Given the description of an element on the screen output the (x, y) to click on. 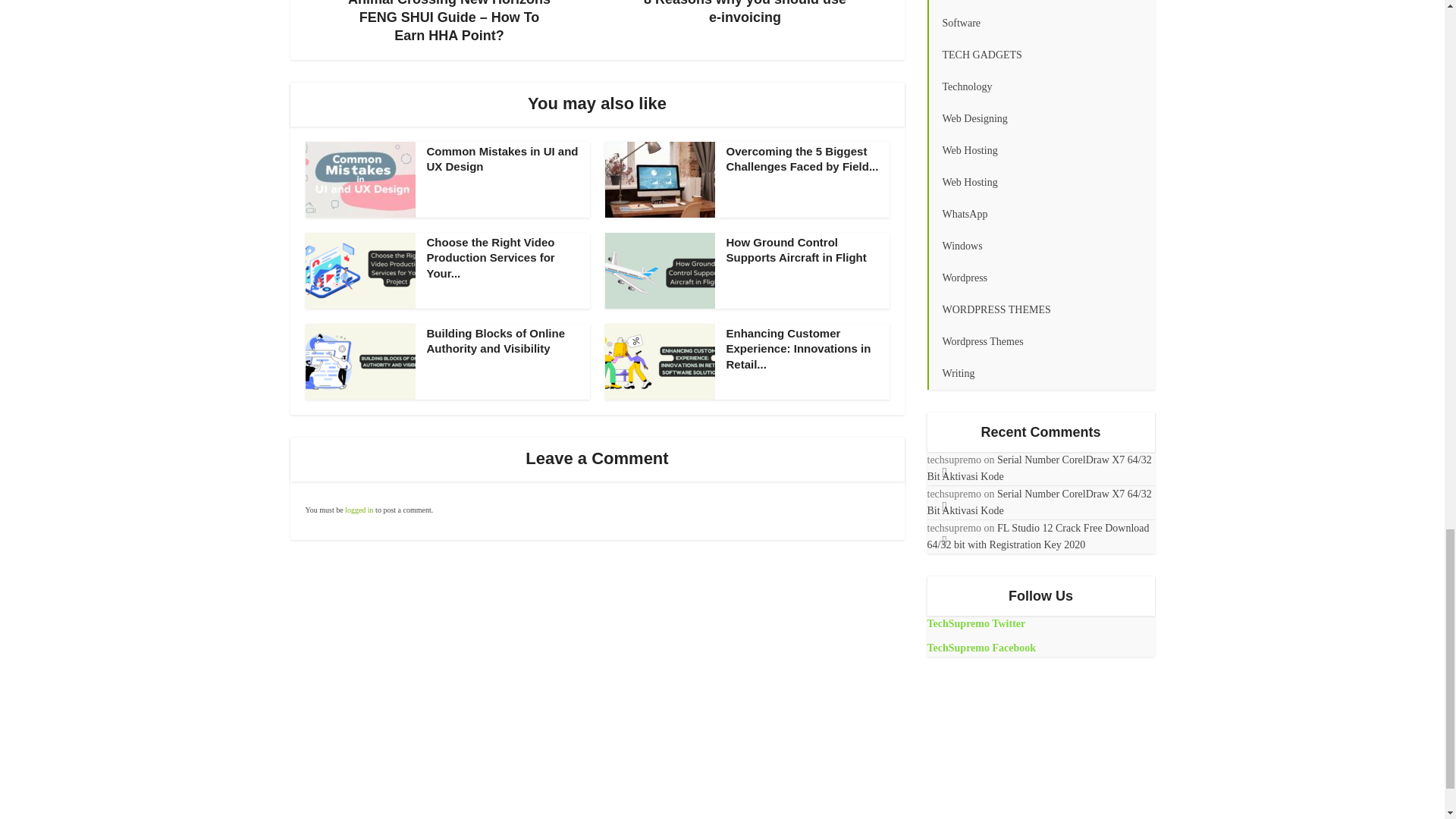
Common Mistakes in UI and UX Design (502, 158)
8 Reasons why you should use e-invoicing (744, 13)
